Given the description of an element on the screen output the (x, y) to click on. 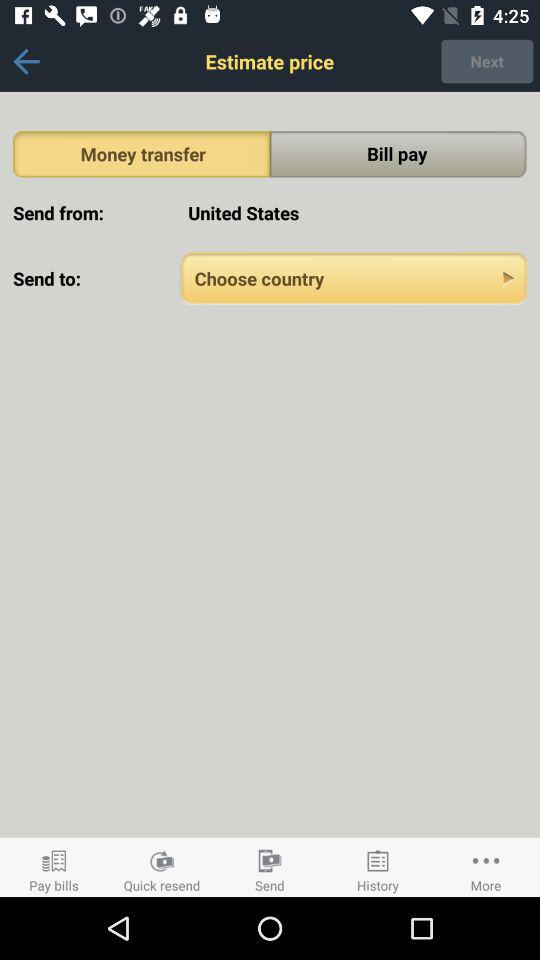
swipe to the money transfer (141, 154)
